Given the description of an element on the screen output the (x, y) to click on. 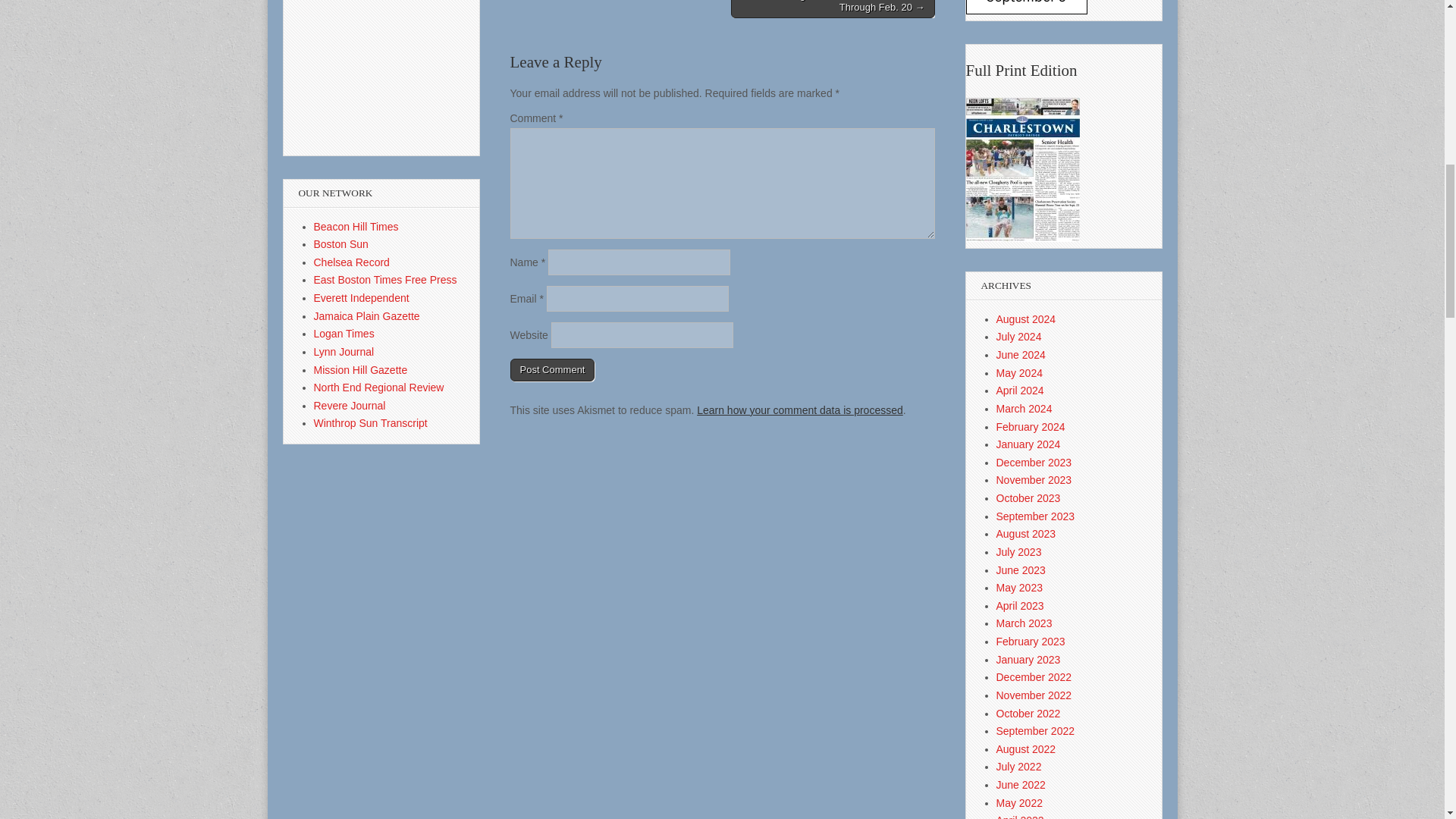
Chelsea Record (352, 262)
Jamaica Plain Gazette (367, 316)
East Boston Times Free Press (385, 279)
North End Regional Review (379, 387)
Everett Independent (361, 297)
Beacon Hill Times (356, 226)
Lynn Journal (344, 351)
Mission Hill Gazette (360, 369)
Logan Times (344, 333)
Winthrop Sun Transcript (371, 422)
Revere Journal (349, 405)
Boston Sun (341, 244)
Post Comment (551, 369)
Learn how your comment data is processed (799, 410)
Post Comment (551, 369)
